Given the description of an element on the screen output the (x, y) to click on. 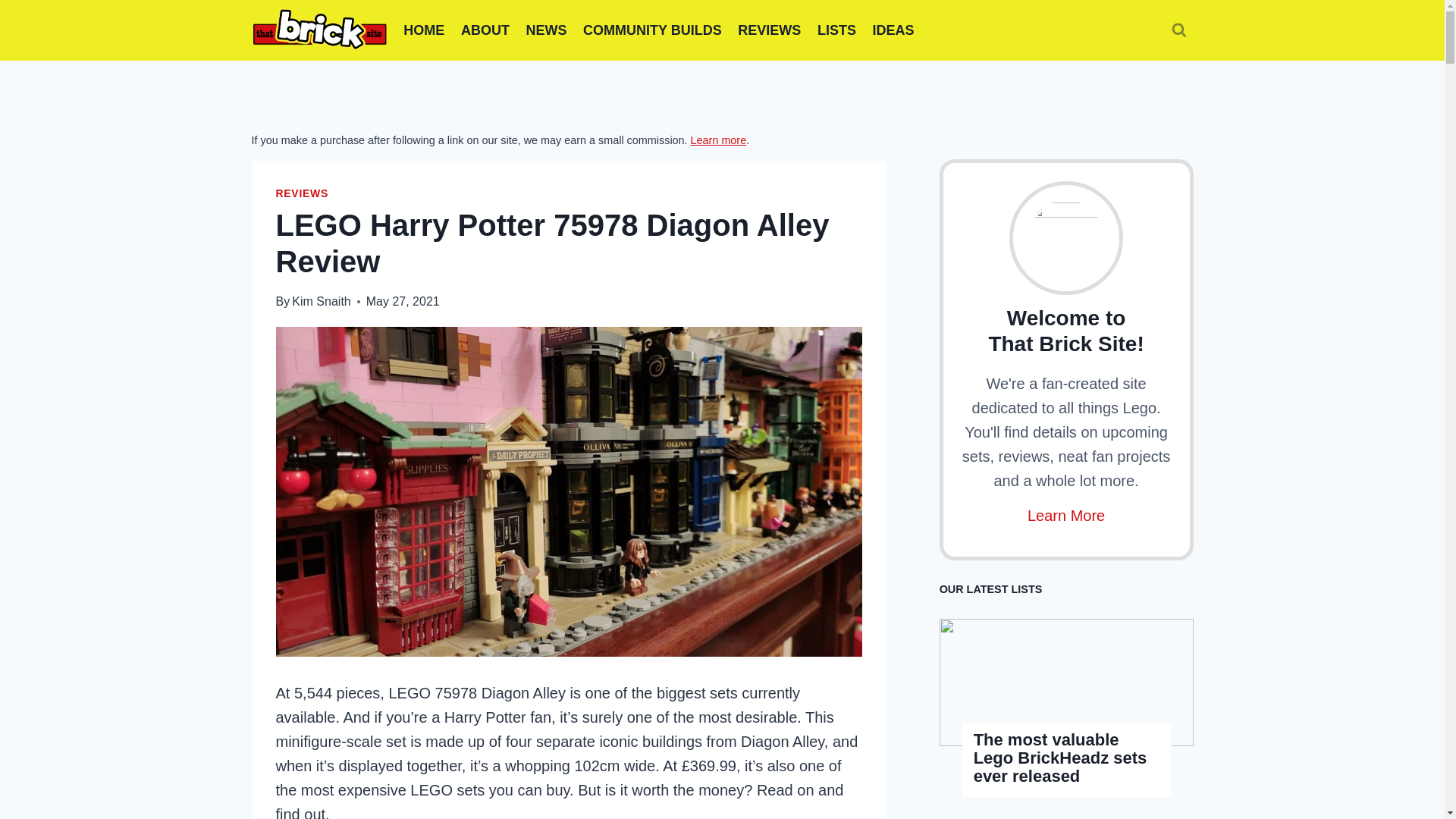
LISTS (836, 30)
REVIEWS (302, 193)
COMMUNITY BUILDS (652, 30)
NEWS (546, 30)
ABOUT (485, 30)
REVIEWS (769, 30)
IDEAS (893, 30)
Kim Snaith (321, 300)
HOME (424, 30)
Learn more (718, 140)
